Given the description of an element on the screen output the (x, y) to click on. 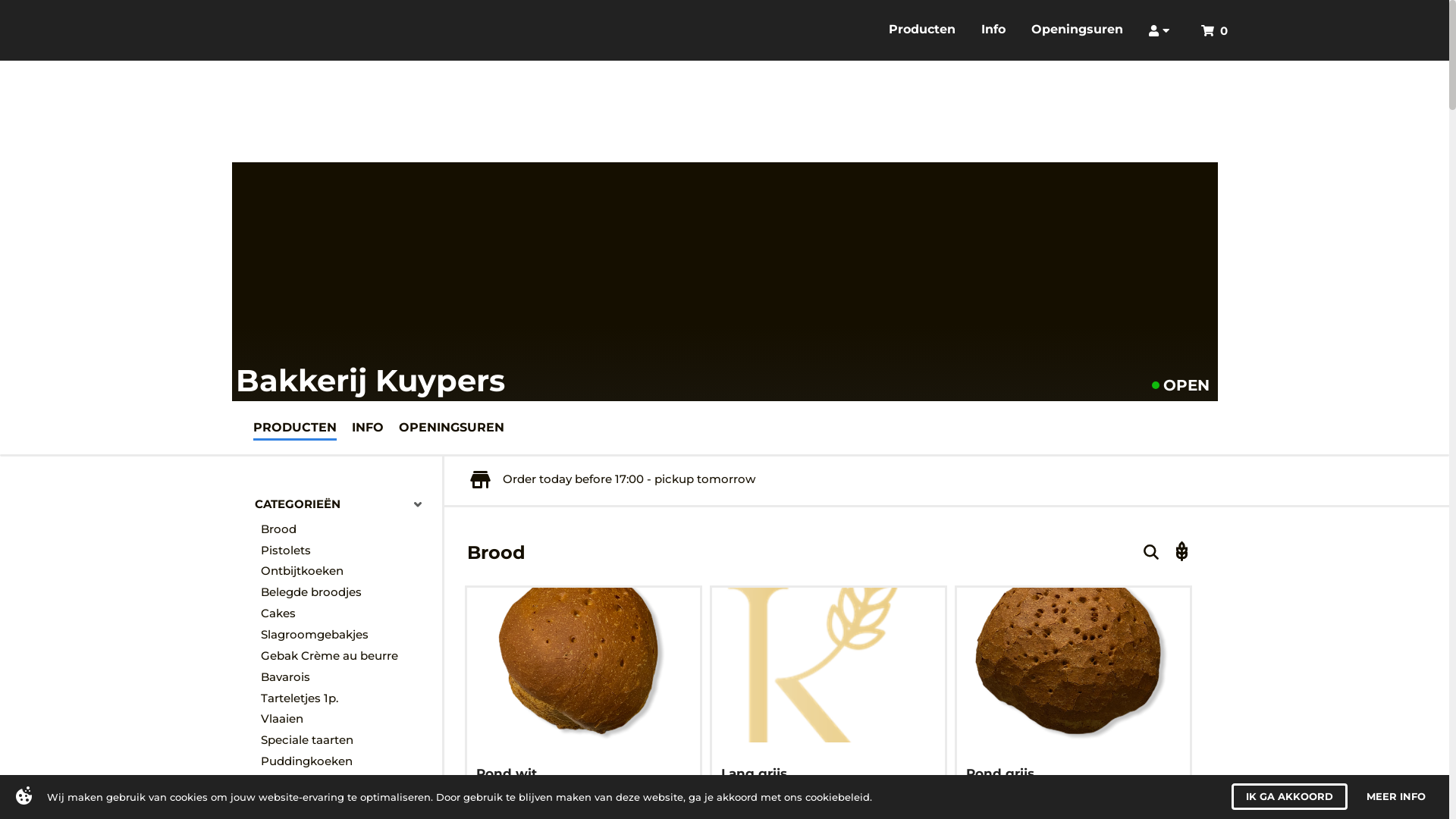
MEER INFO Element type: text (1402, 796)
Openingsuren Element type: text (1076, 30)
Producten Element type: text (921, 30)
Info Element type: text (993, 30)
0 Element type: text (1218, 29)
IK GA AKKOORD Element type: text (1296, 796)
